Given the description of an element on the screen output the (x, y) to click on. 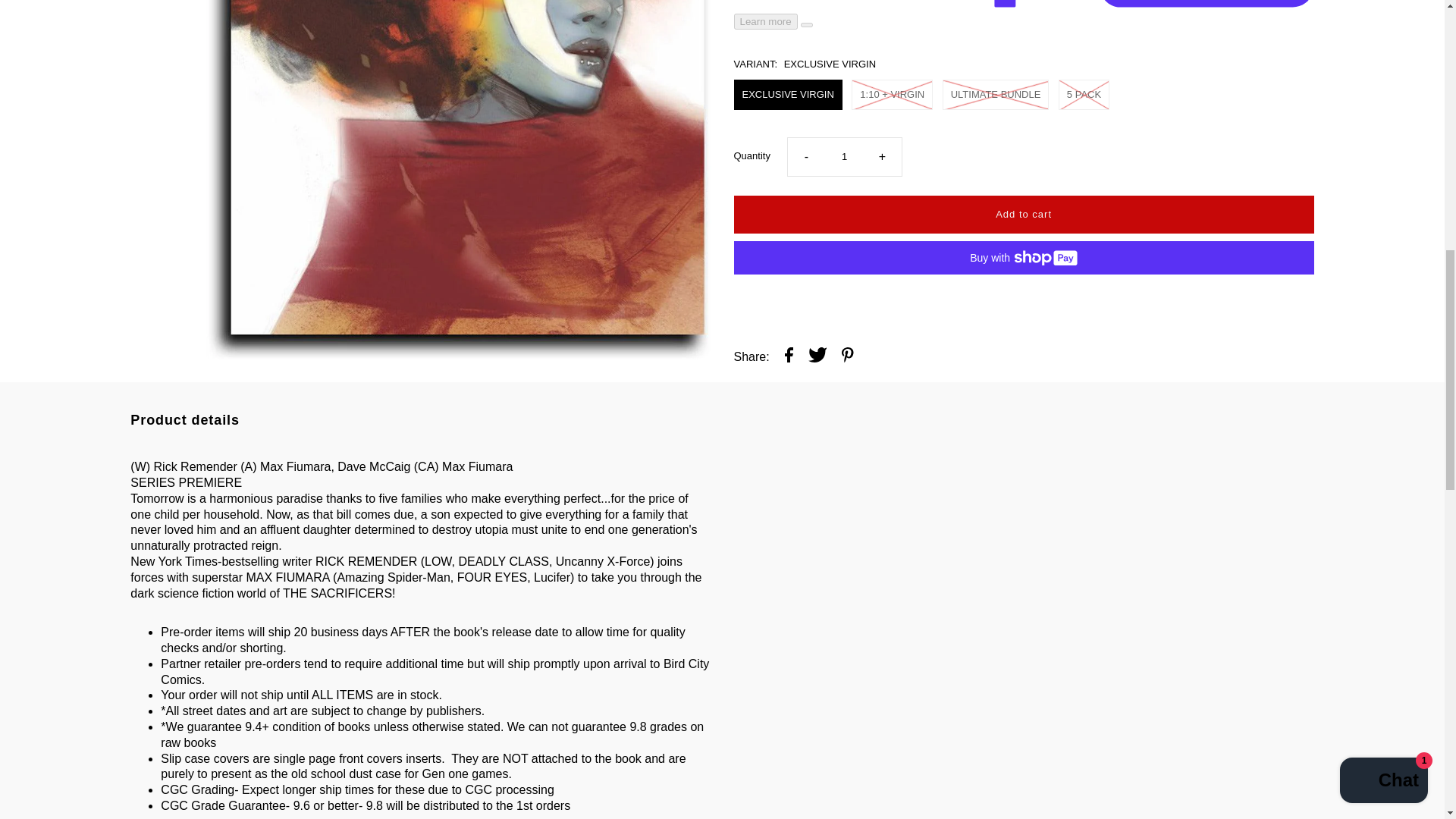
Add to cart (1023, 46)
1 (844, 3)
Share on Twitter (817, 189)
